Given the description of an element on the screen output the (x, y) to click on. 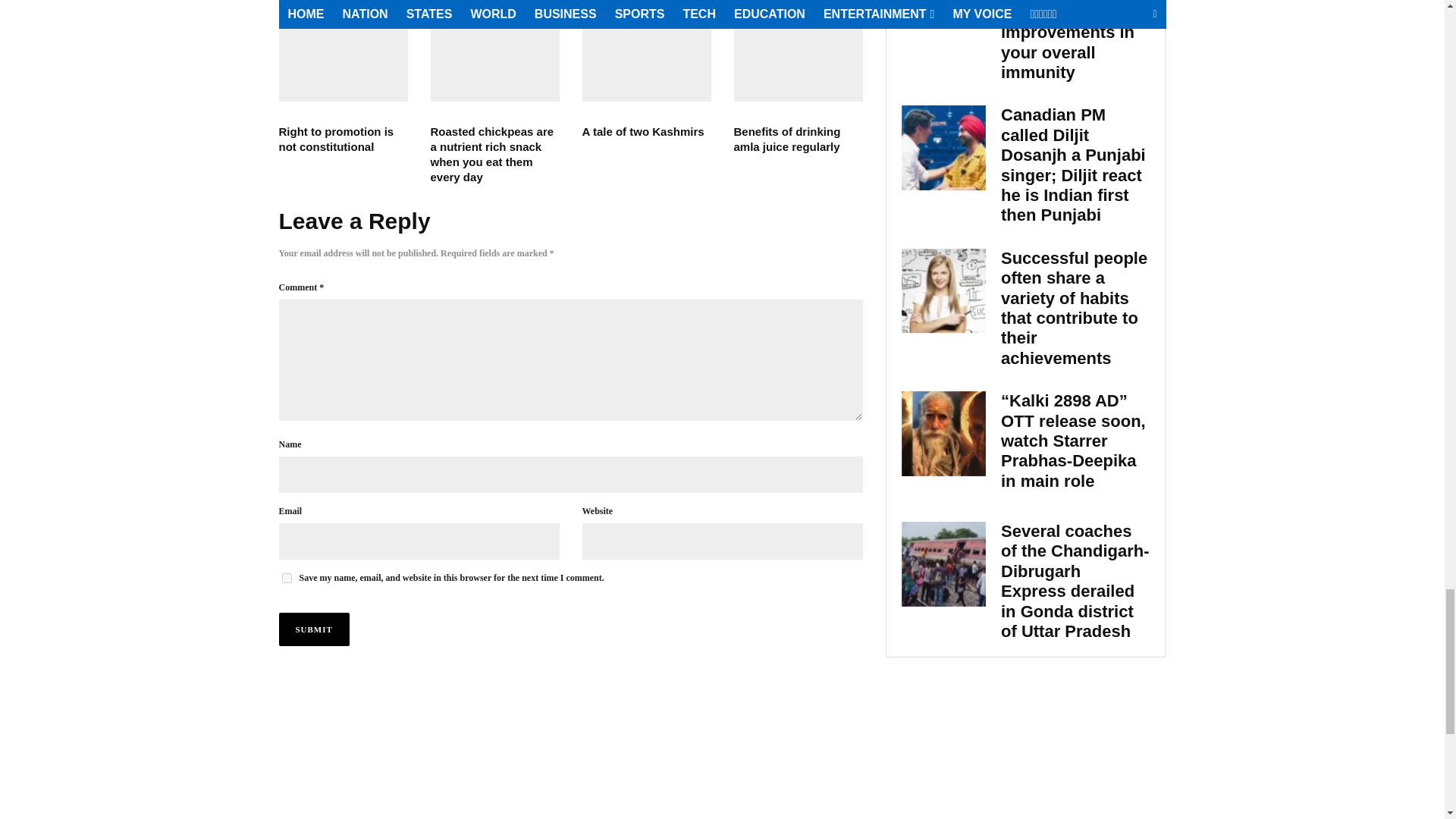
POK (646, 50)
SC (343, 50)
roasted chickpeas (494, 50)
yes (287, 578)
Submit (314, 629)
amla (798, 50)
